Given the description of an element on the screen output the (x, y) to click on. 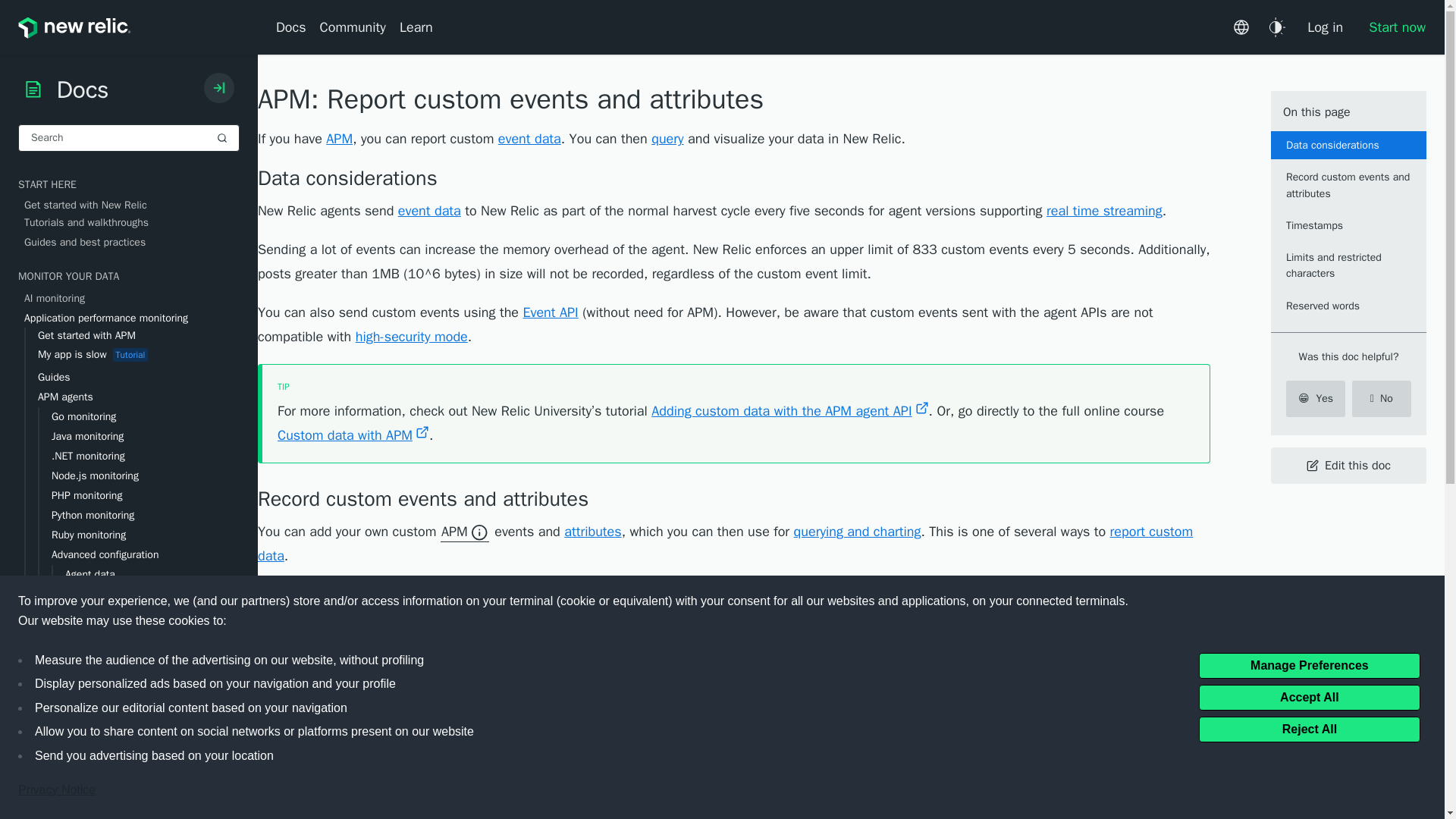
My app is slowTutorial (138, 355)
Reject All (1309, 728)
Learn (416, 27)
Get started with New Relic (131, 204)
Privacy Notice (56, 789)
Manage Preferences (1309, 664)
Docs (294, 27)
Get started with APM (138, 335)
Community (353, 27)
Start now (1390, 26)
